Given the description of an element on the screen output the (x, y) to click on. 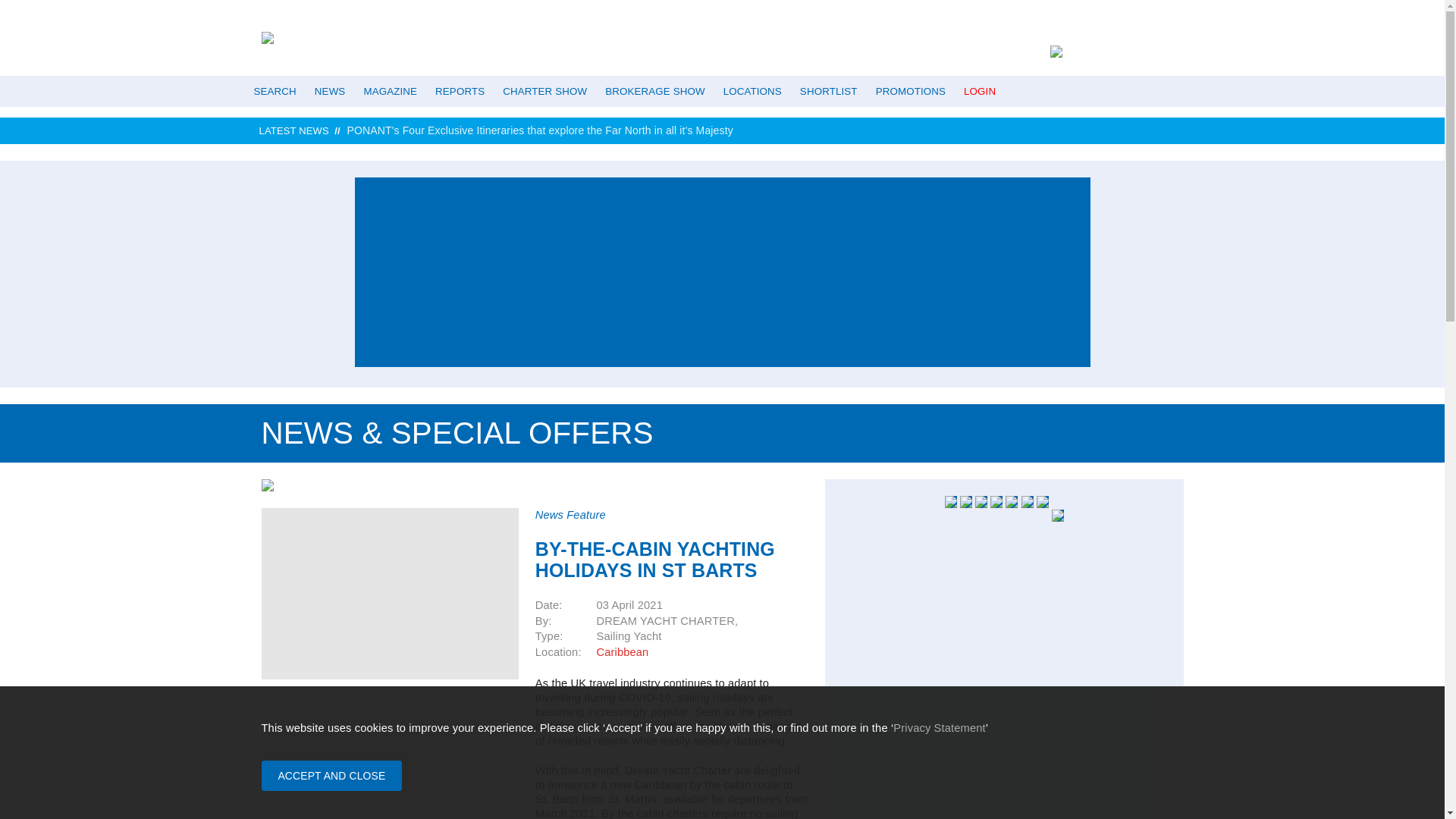
BROKERAGE SHOW (654, 91)
CHARTER SHOW (544, 91)
LOCATIONS (752, 91)
NEWS (330, 91)
PROMOTIONS (910, 91)
SEARCH (274, 91)
SHORTLIST (828, 91)
REPORTS (459, 91)
MAGAZINE (389, 91)
